Given the description of an element on the screen output the (x, y) to click on. 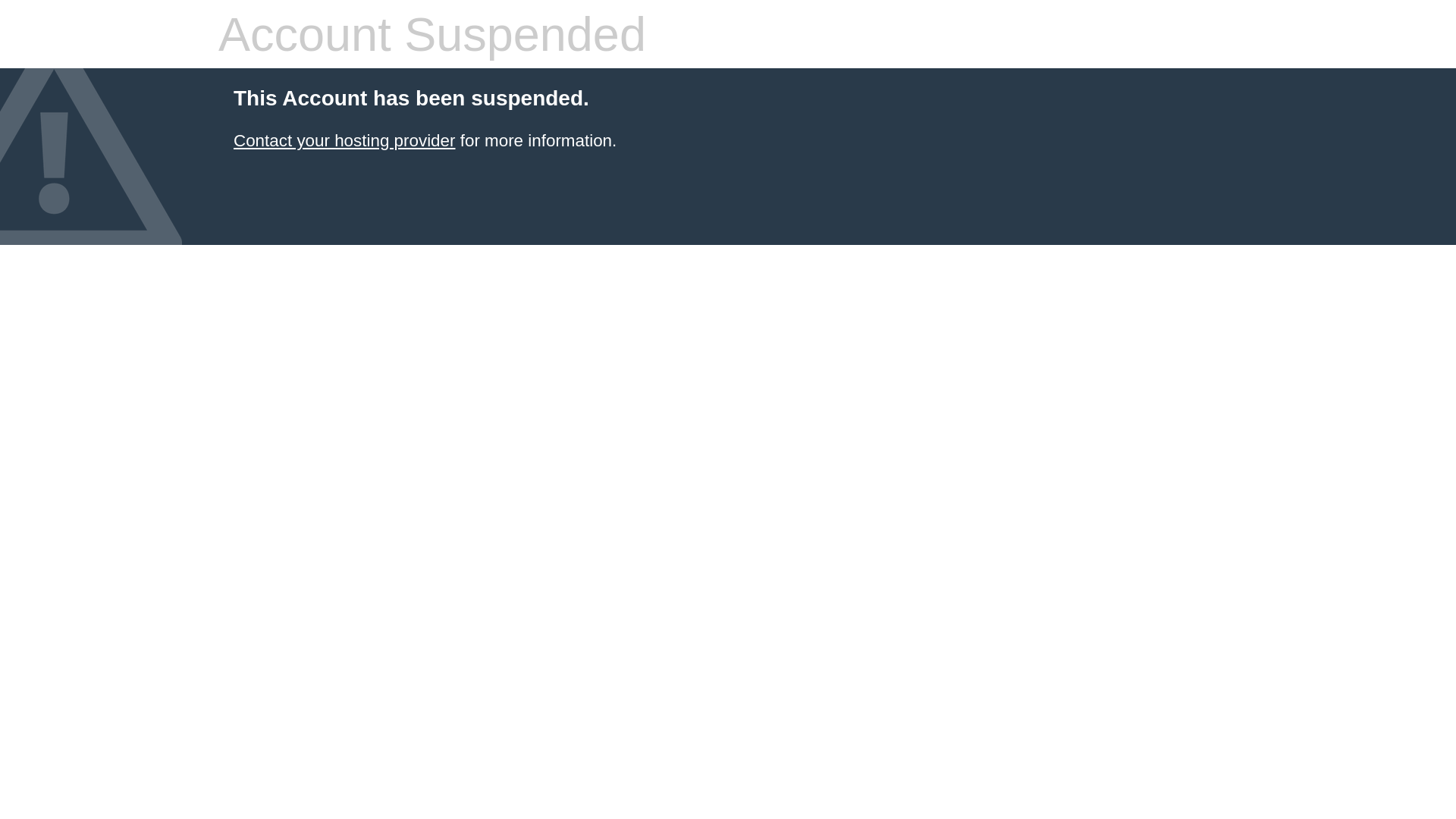
Contact your hosting provider Element type: text (344, 140)
